Given the description of an element on the screen output the (x, y) to click on. 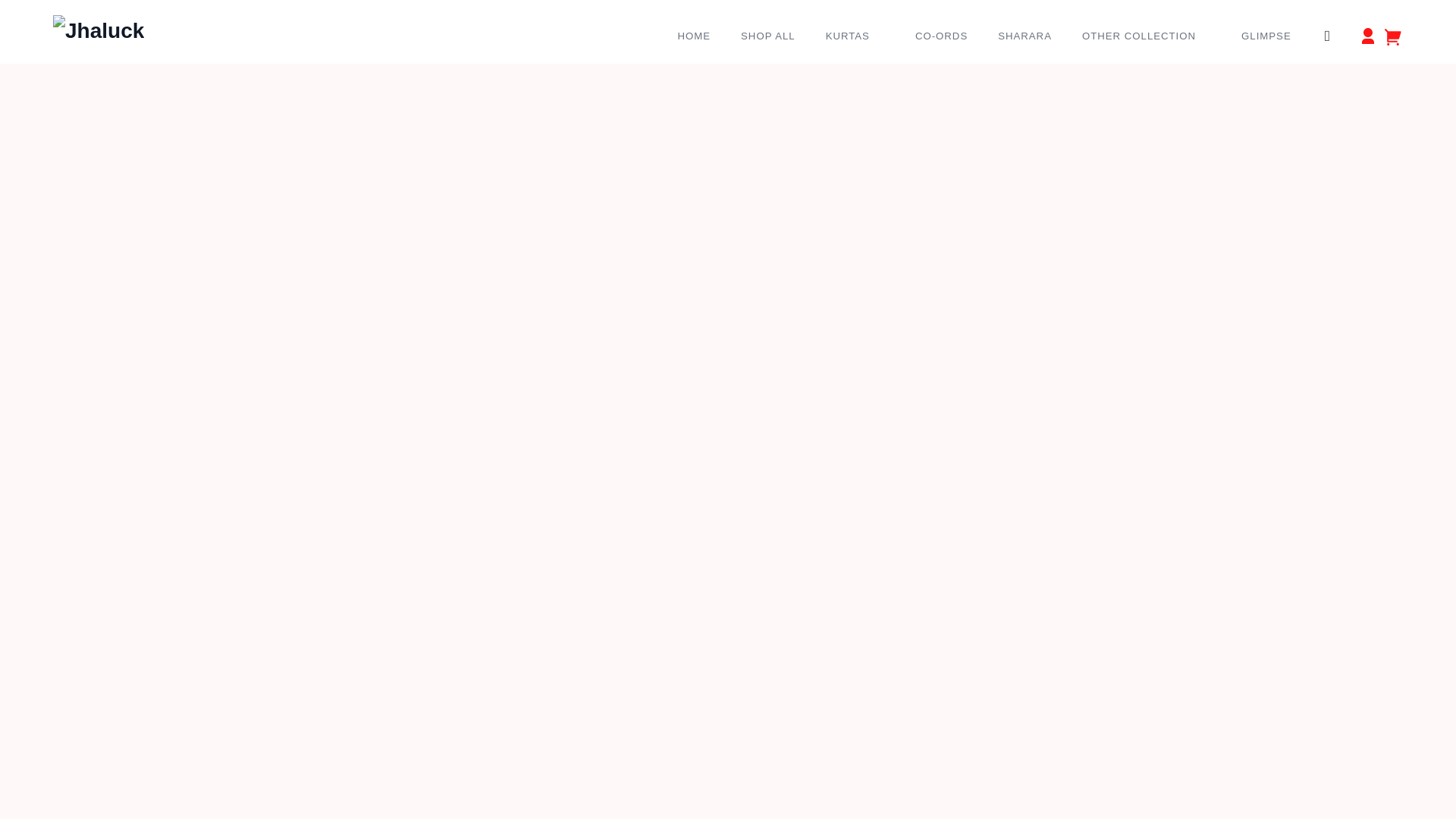
HOME (691, 36)
SHOP ALL (764, 36)
KURTAS (852, 36)
